Given the description of an element on the screen output the (x, y) to click on. 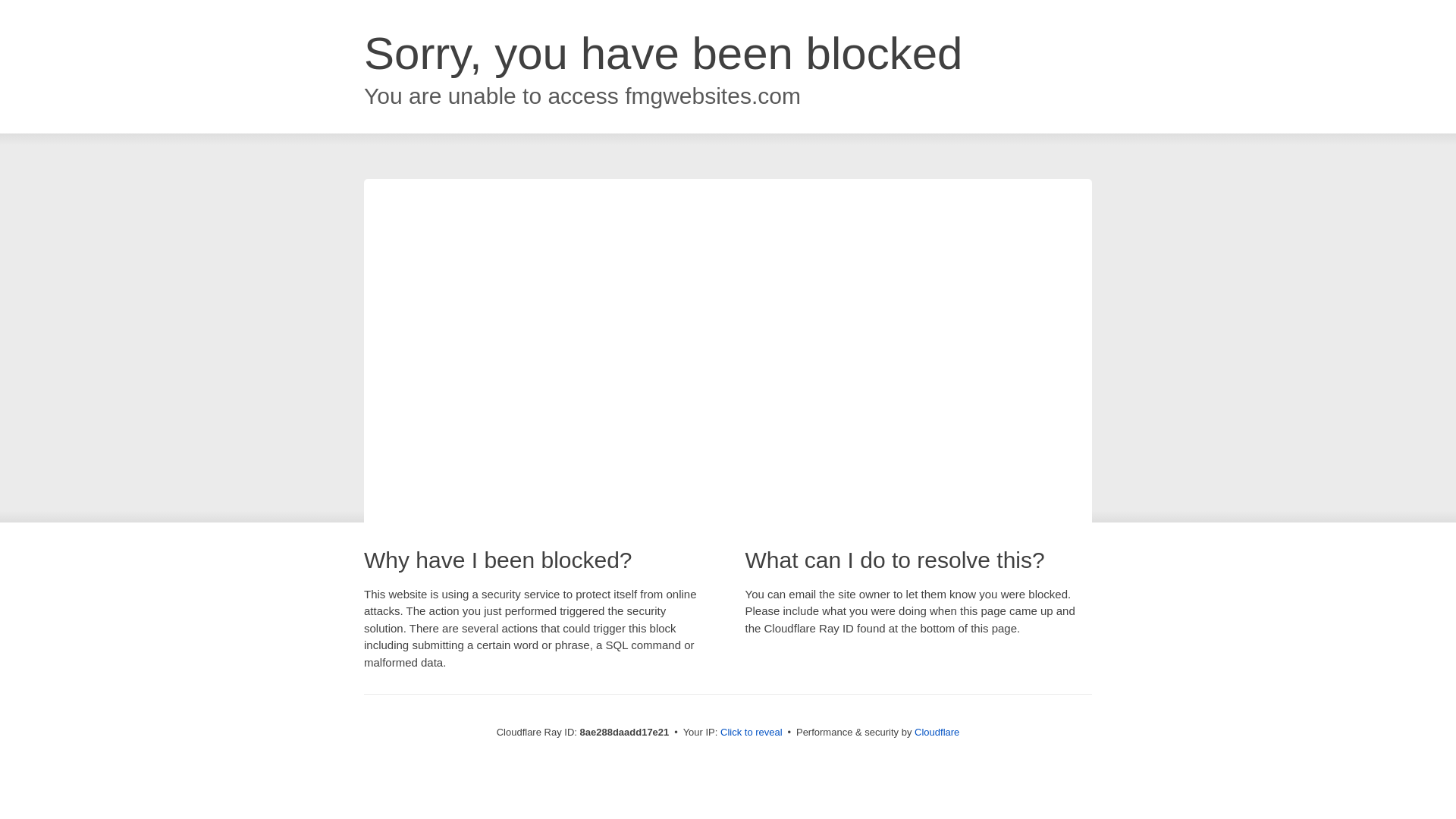
Click to reveal (751, 732)
Cloudflare (936, 731)
